Given the description of an element on the screen output the (x, y) to click on. 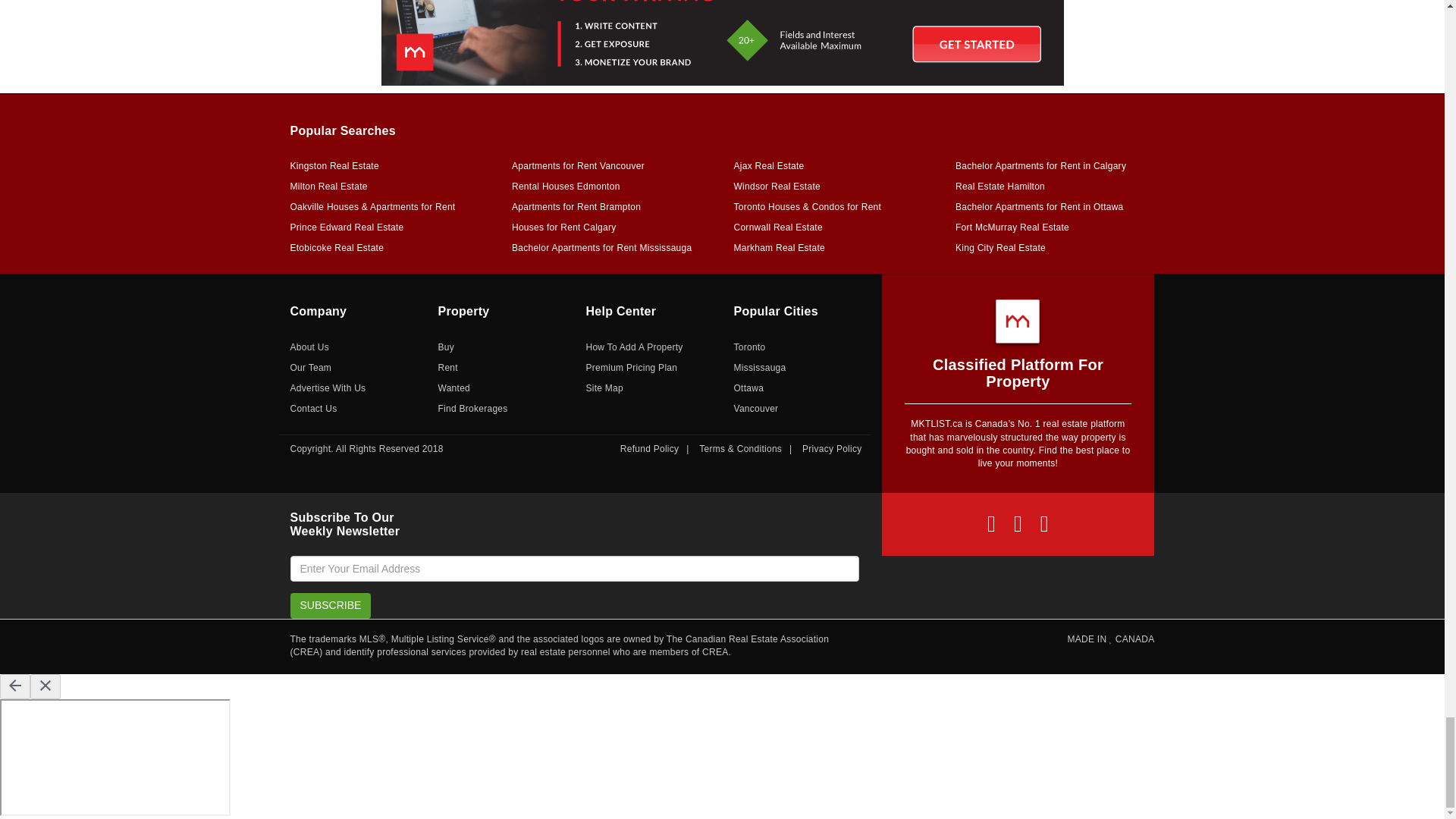
SUBSCRIBE (330, 605)
